Given the description of an element on the screen output the (x, y) to click on. 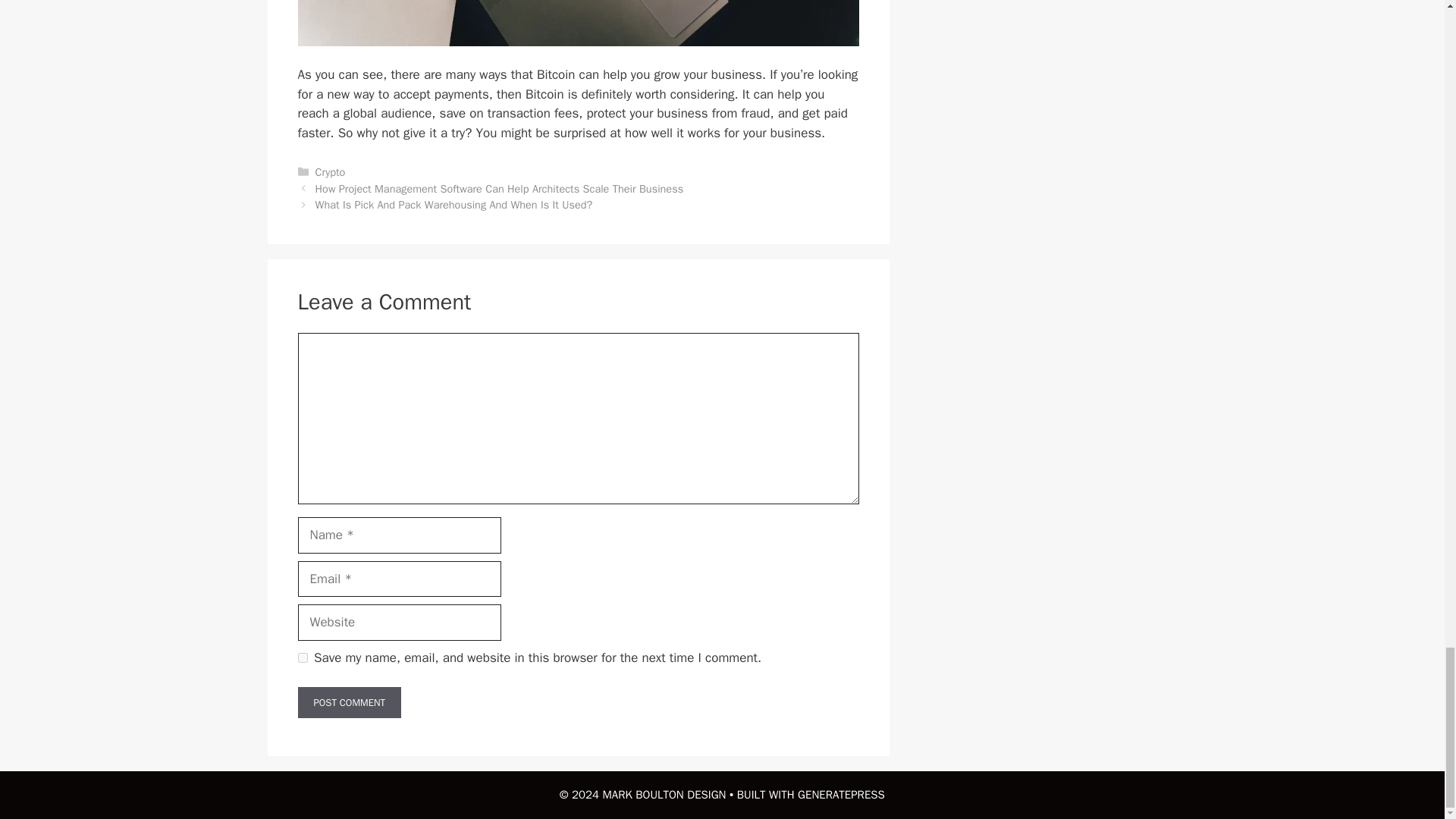
GENERATEPRESS (841, 794)
yes (302, 657)
Post Comment (349, 703)
Post Comment (349, 703)
What Is Pick And Pack Warehousing And When Is It Used? (453, 204)
Crypto (330, 172)
